Given the description of an element on the screen output the (x, y) to click on. 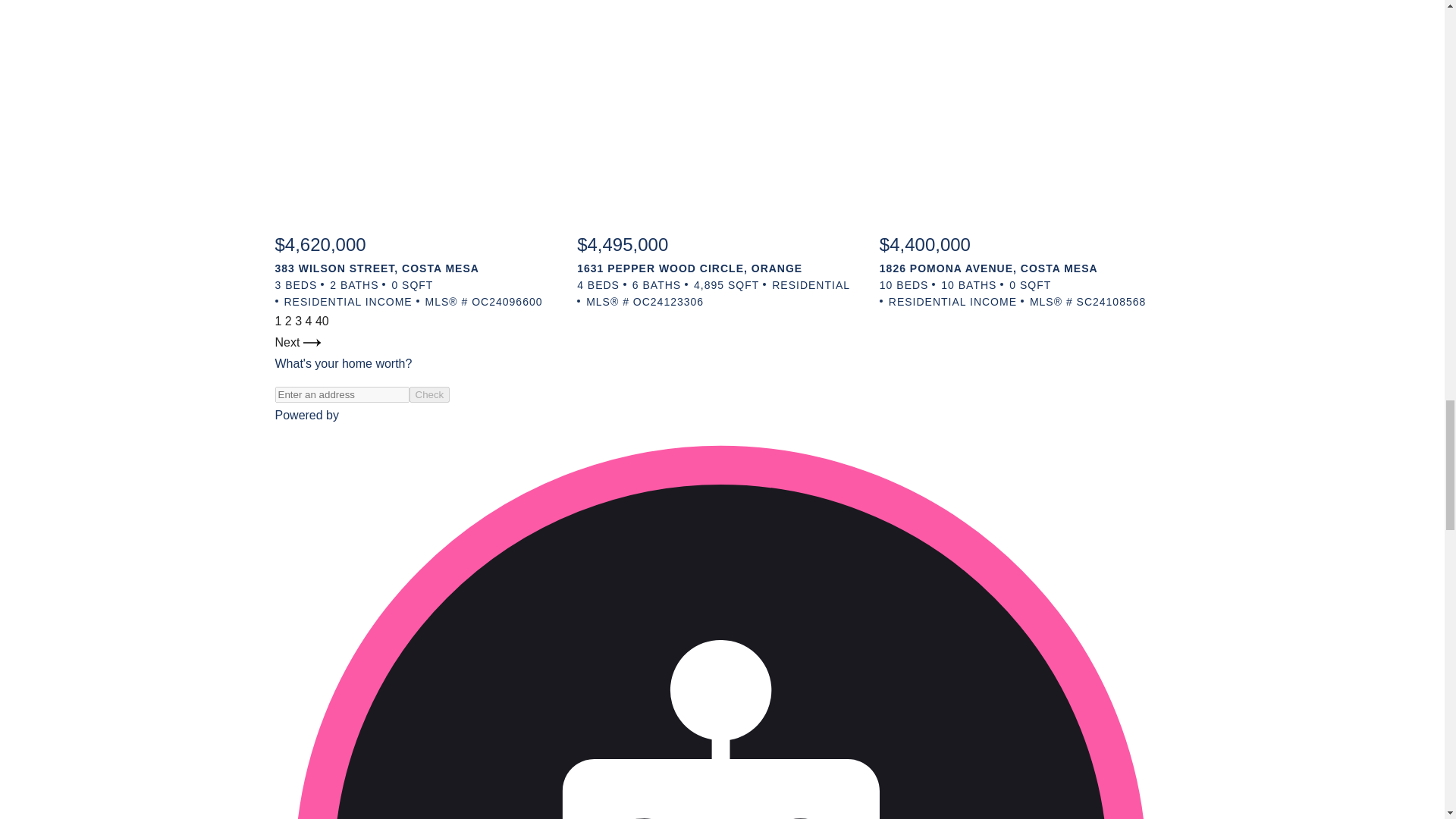
Current Page is 40 (322, 320)
Next Page (297, 341)
